Given the description of an element on the screen output the (x, y) to click on. 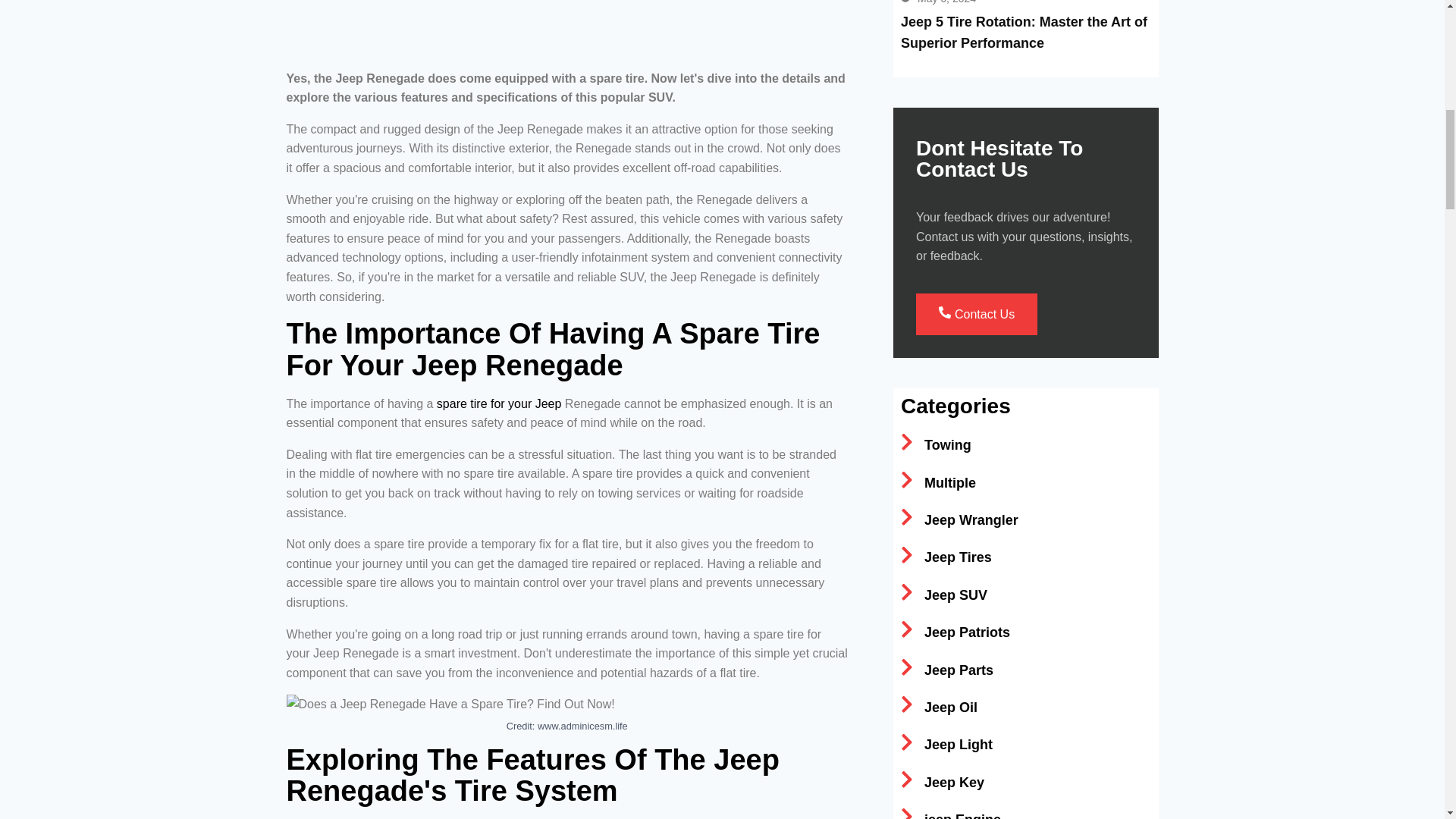
Jeep Tires (946, 557)
Towing (936, 444)
Contact Us (975, 314)
Jeep SUV (944, 595)
spare tire for your Jeep (499, 403)
Jeep Wrangler (959, 519)
Multiple (938, 483)
